Given the description of an element on the screen output the (x, y) to click on. 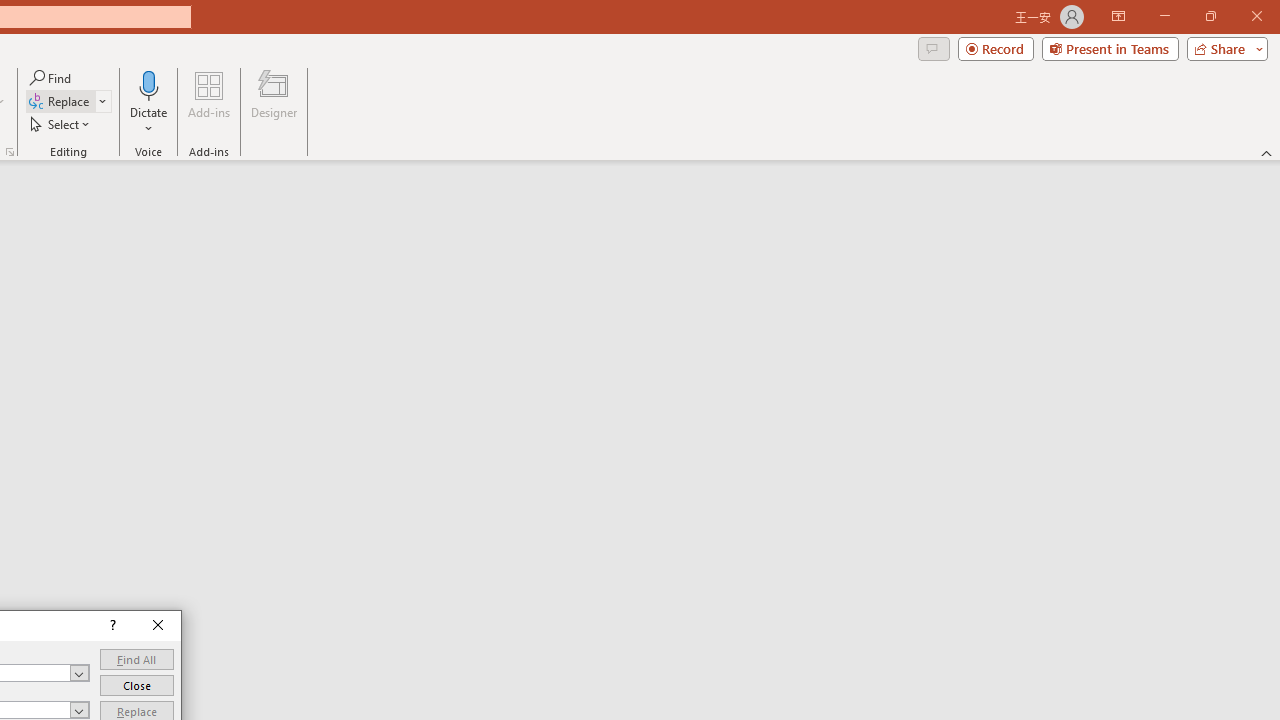
Select (61, 124)
Format Object... (9, 151)
Find... (51, 78)
